Given the description of an element on the screen output the (x, y) to click on. 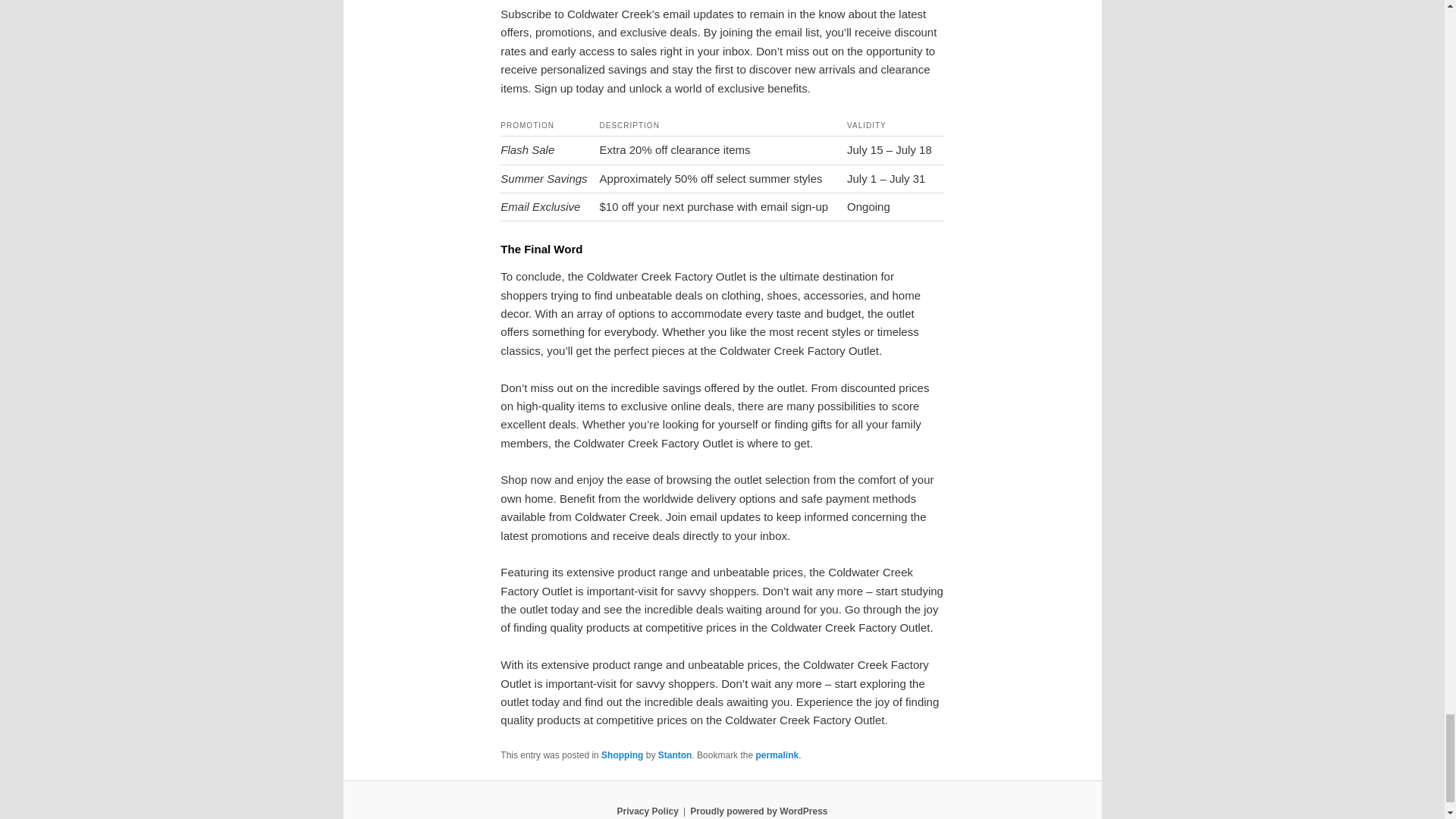
Shopping (622, 755)
permalink (776, 755)
Stanton (675, 755)
Proudly powered by WordPress (758, 810)
Privacy Policy (646, 810)
Semantic Personal Publishing Platform (758, 810)
